Given the description of an element on the screen output the (x, y) to click on. 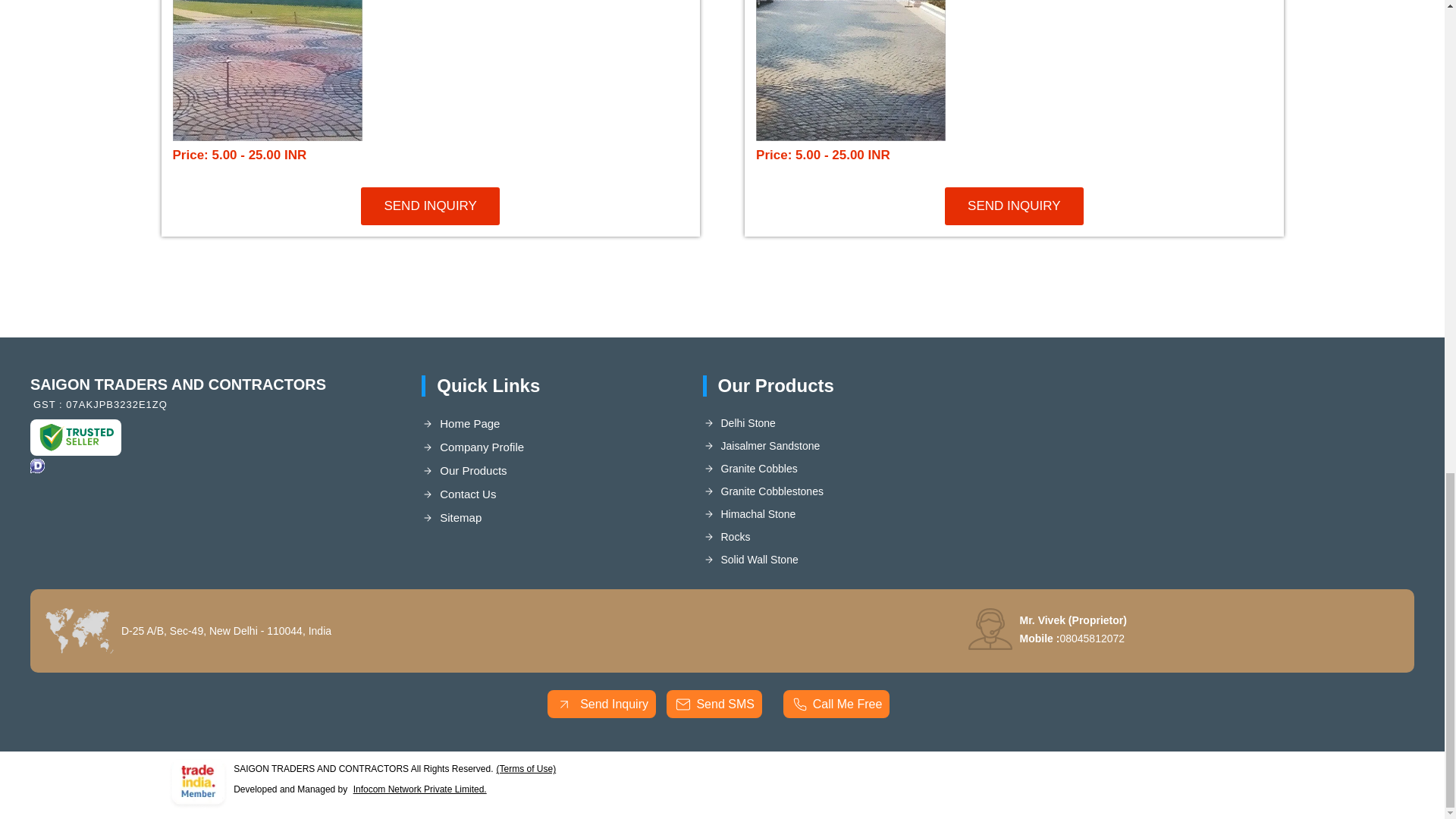
Send Inquiry (563, 704)
SEND INQUIRY (1013, 206)
Send SMS (683, 704)
SEND INQUIRY (430, 206)
call me free (799, 704)
Accepts only Domestic Inquiries (37, 465)
